Given the description of an element on the screen output the (x, y) to click on. 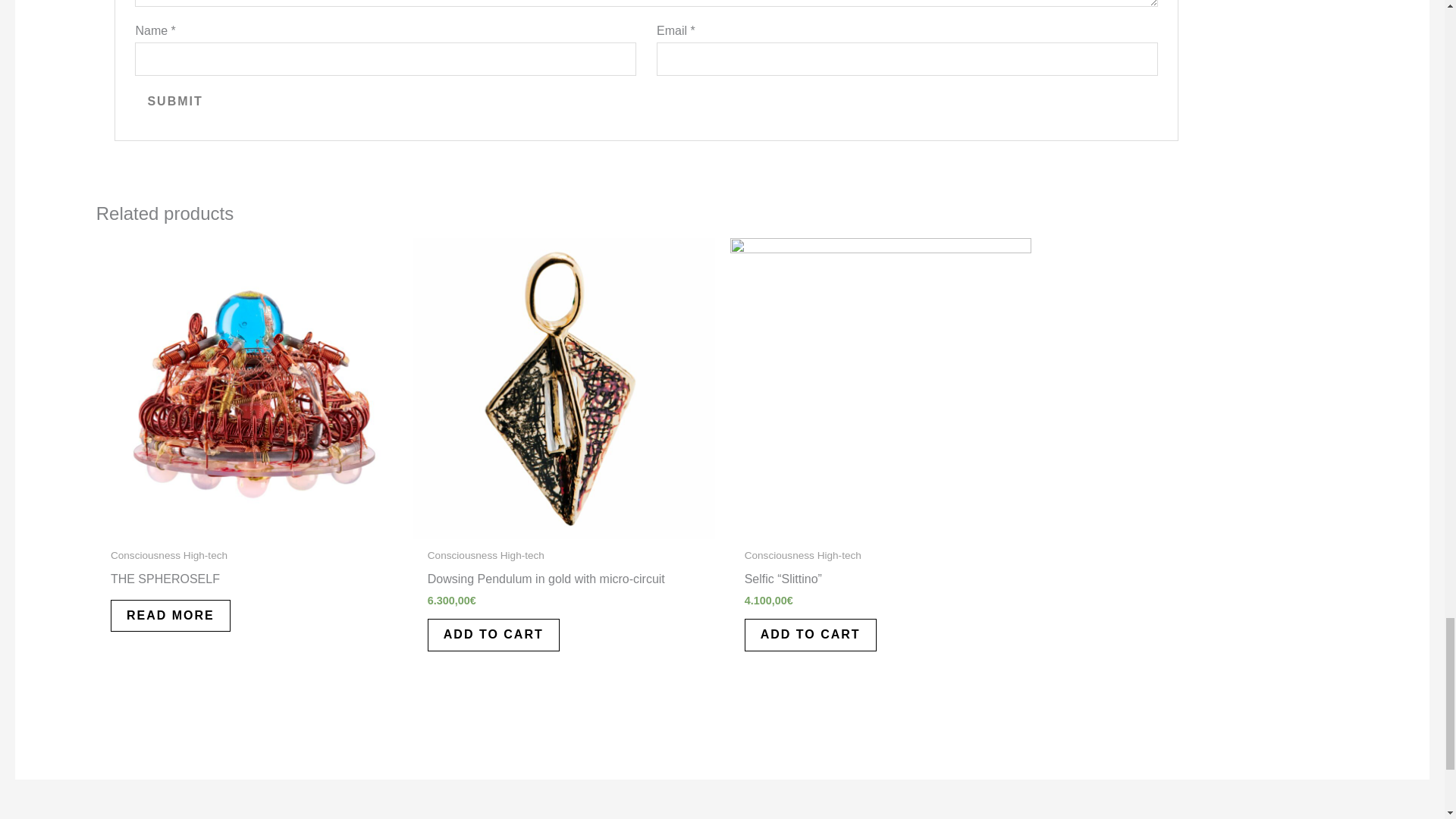
Submit (174, 101)
